Given the description of an element on the screen output the (x, y) to click on. 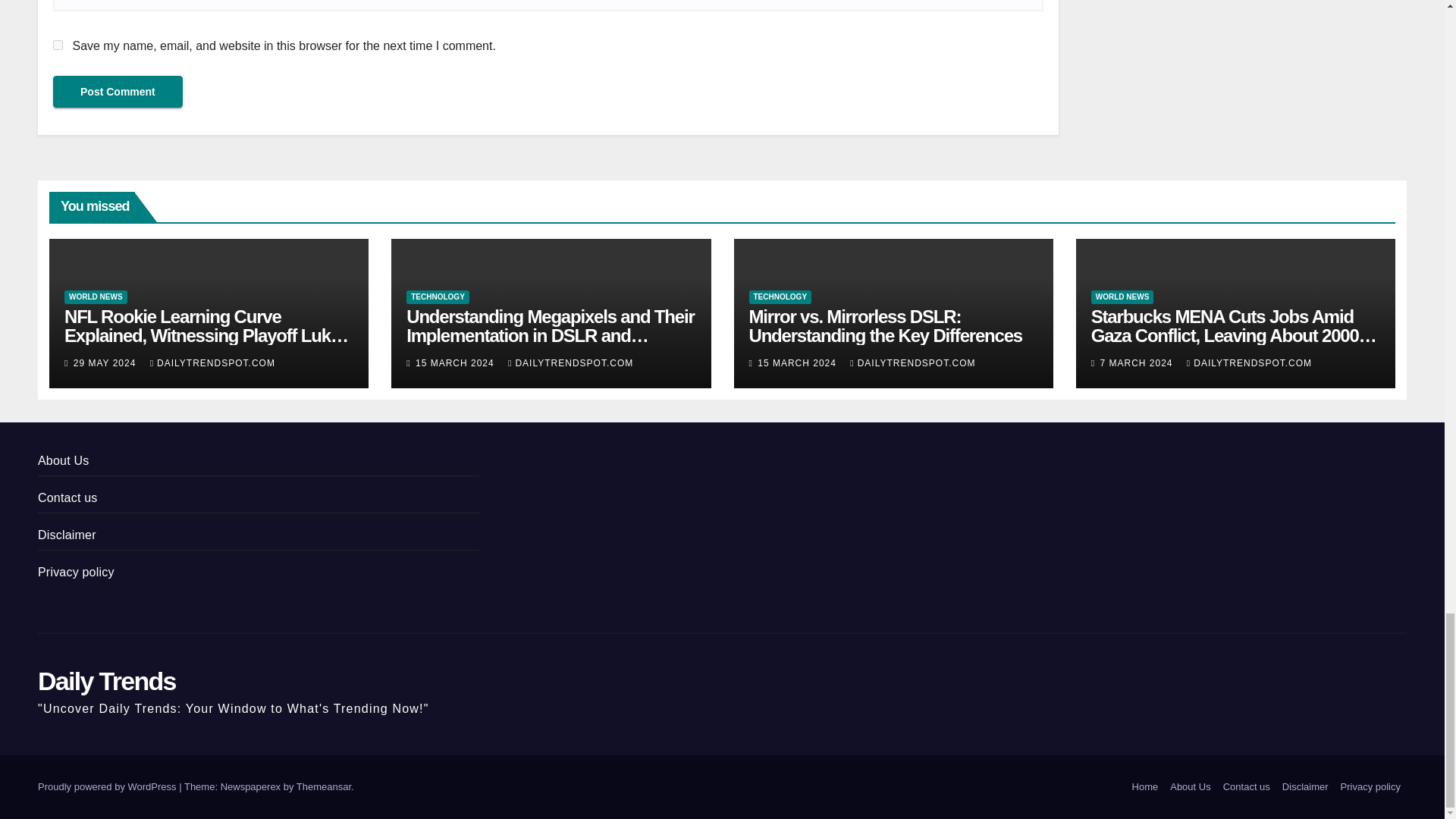
Home (1144, 786)
Post Comment (117, 91)
yes (57, 44)
